Given the description of an element on the screen output the (x, y) to click on. 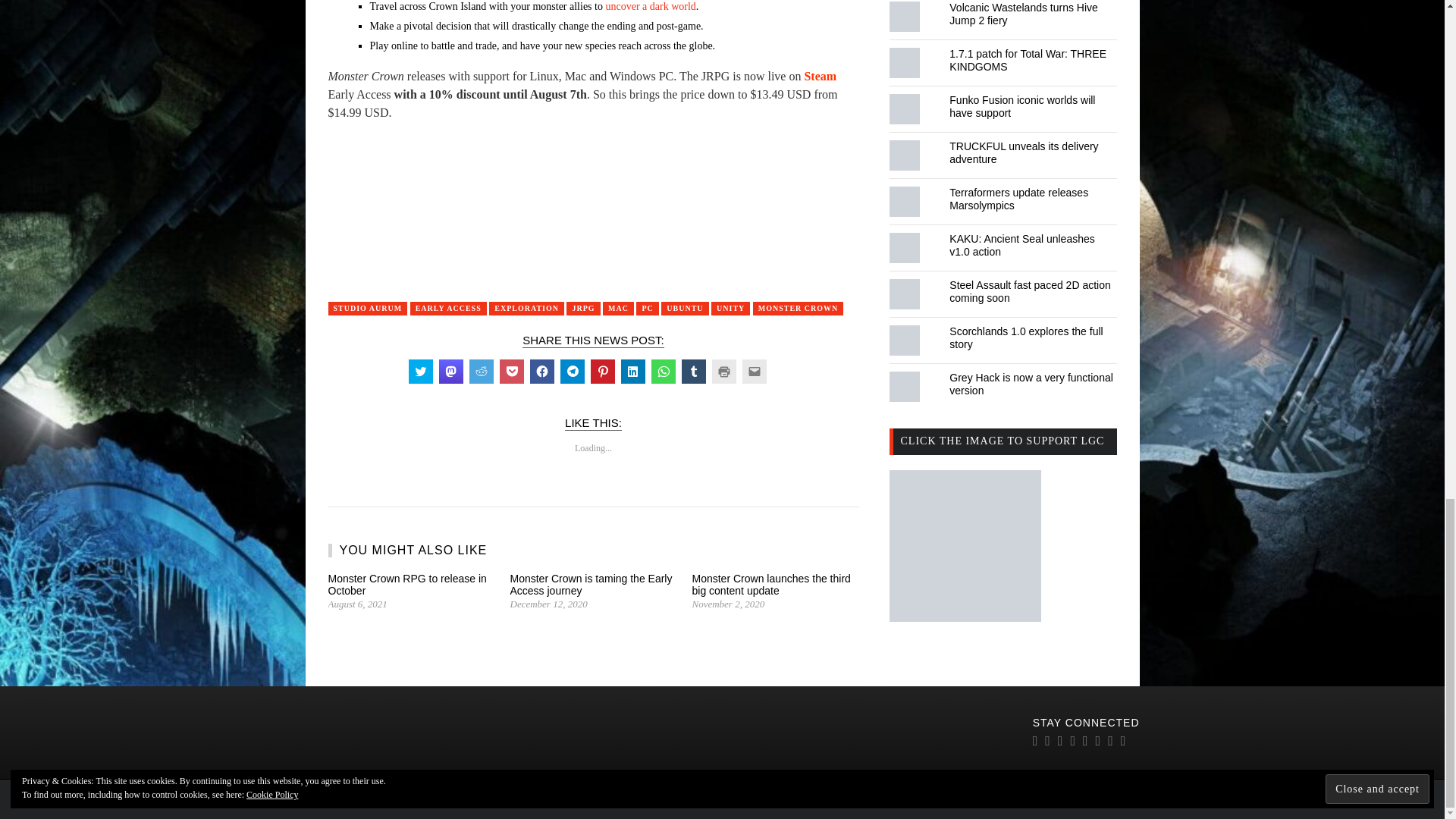
Click to share on Twitter (419, 371)
uncover a dark world (650, 6)
Steam (819, 75)
Click to print (723, 371)
EXPLORATION (526, 308)
Click to share on Pocket (510, 371)
MONSTER CROWN (798, 308)
Click to email a link to a friend (753, 371)
UBUNTU (684, 308)
Click to share on Mastodon (450, 371)
STUDIO AURUM (367, 308)
Click to share on Reddit (480, 371)
Click to share on Pinterest (601, 371)
Click to share on LinkedIn (632, 371)
Click to share on Tumblr (692, 371)
